Given the description of an element on the screen output the (x, y) to click on. 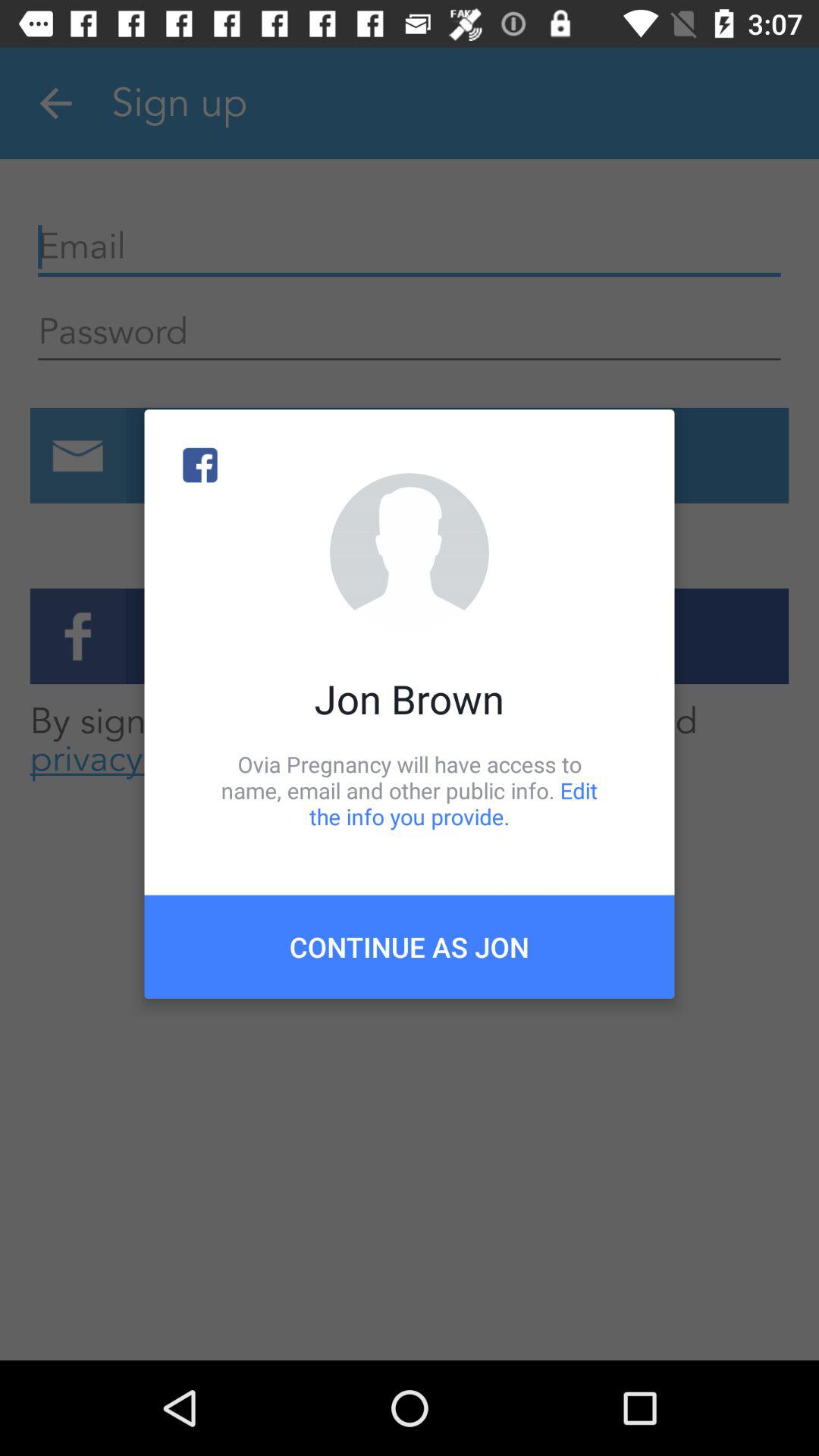
swipe to continue as jon item (409, 946)
